Given the description of an element on the screen output the (x, y) to click on. 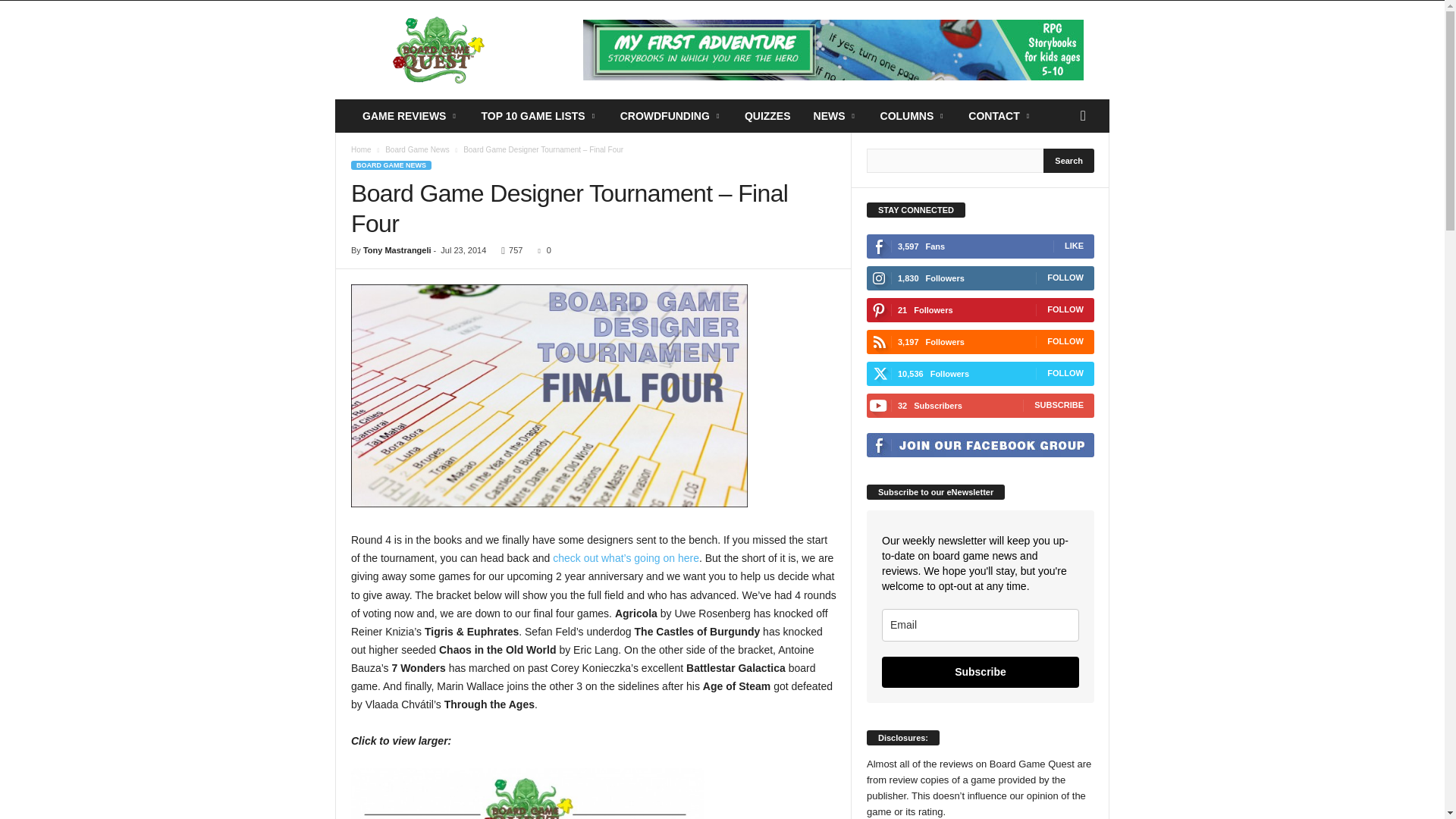
Board Game Quest (437, 49)
Search (1068, 160)
GAME REVIEWS (409, 115)
